Given the description of an element on the screen output the (x, y) to click on. 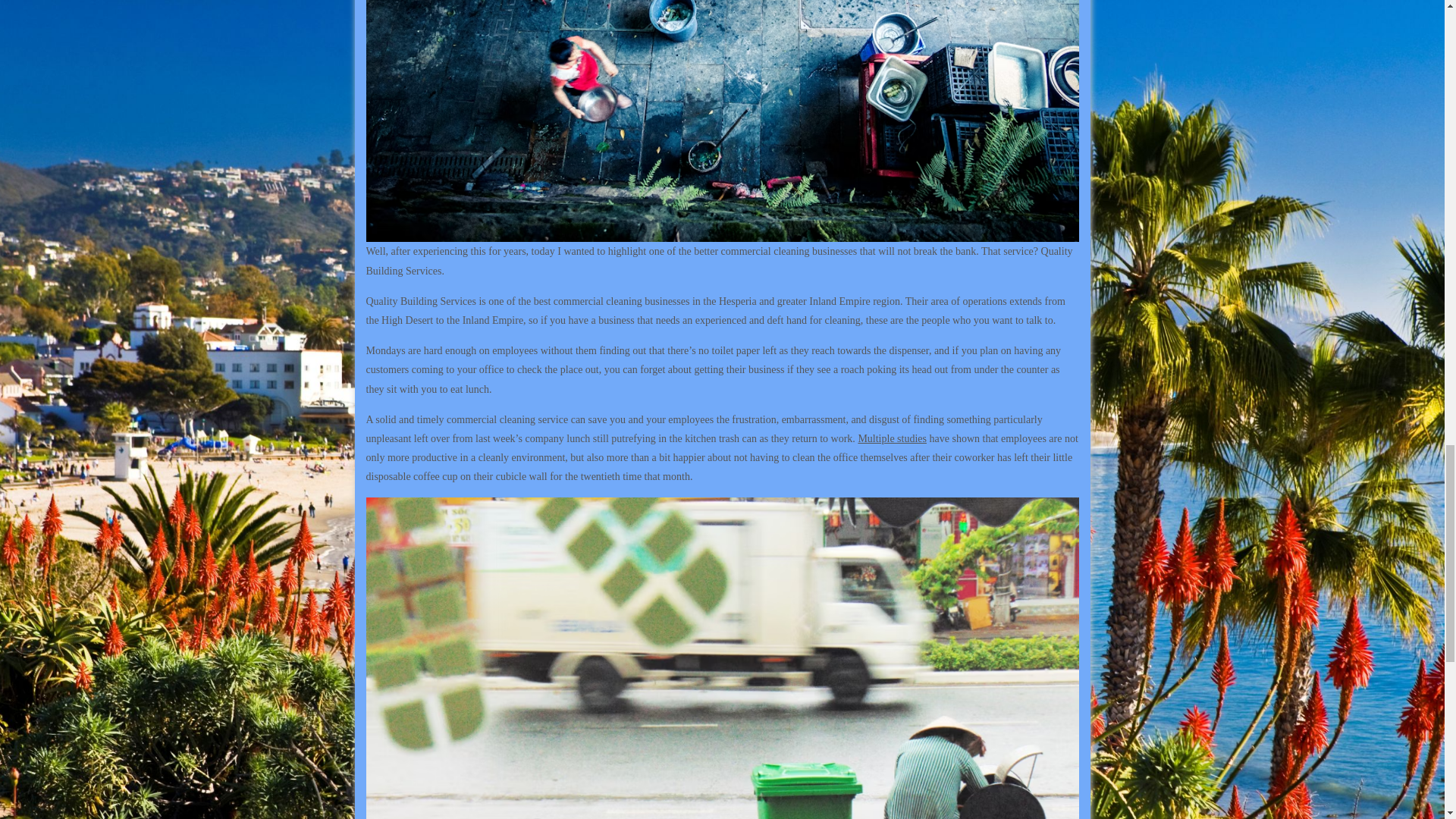
Multiple studies (891, 438)
